Given the description of an element on the screen output the (x, y) to click on. 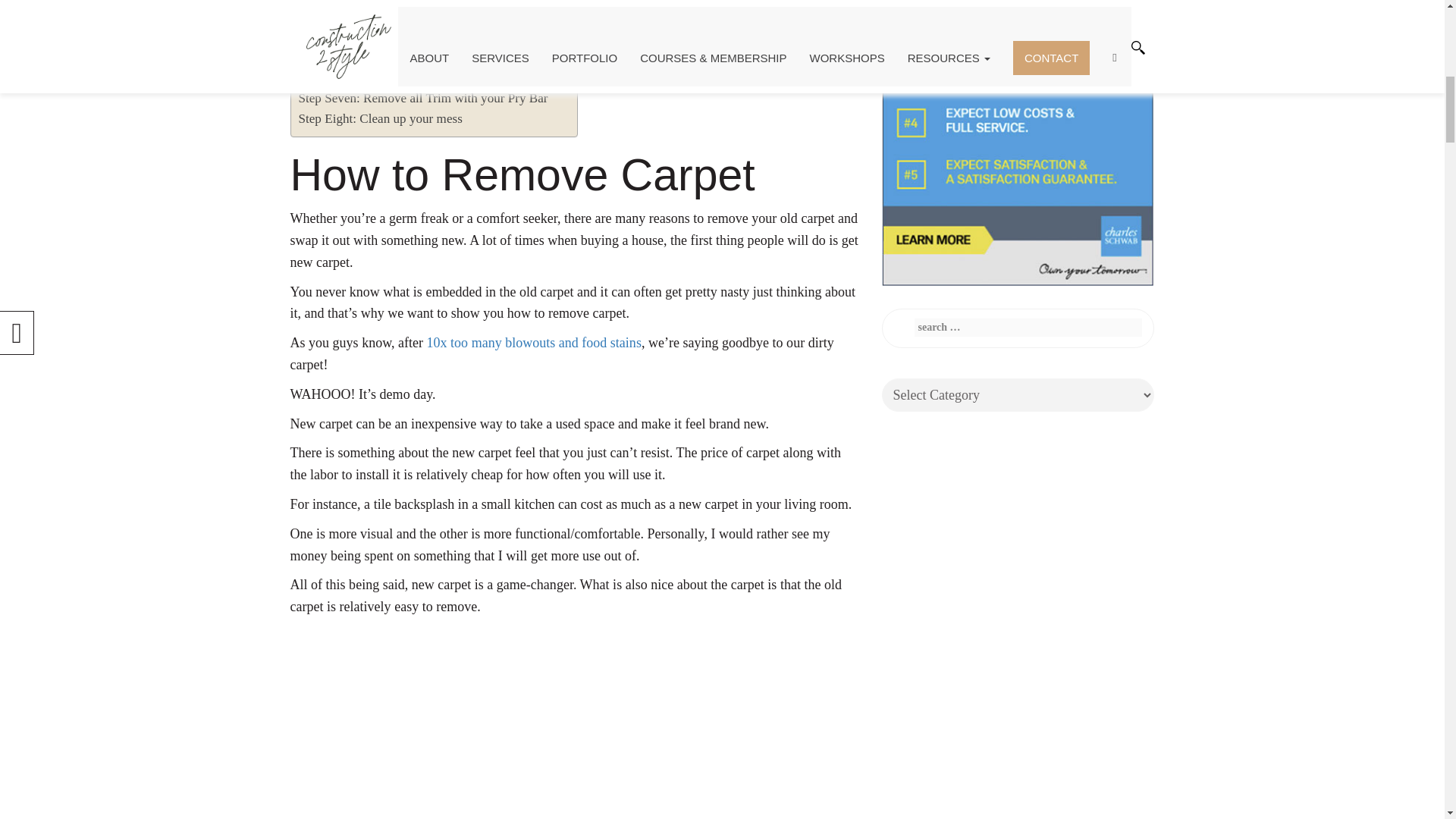
Step Six: Pull up the Tack Strips or Clean the Glue (430, 76)
Step Seven: Remove all Trim with your Pry Bar (423, 97)
10x too many blowouts and food stains (534, 342)
Search (1110, 327)
Step Eight: Clean up your mess (380, 118)
Step Five: Remove Padding (371, 55)
Search (1110, 327)
Step Four: Bring it out to the Trash (389, 35)
Step Two: Cut Carpet with a Utility Knife (407, 2)
